Given the description of an element on the screen output the (x, y) to click on. 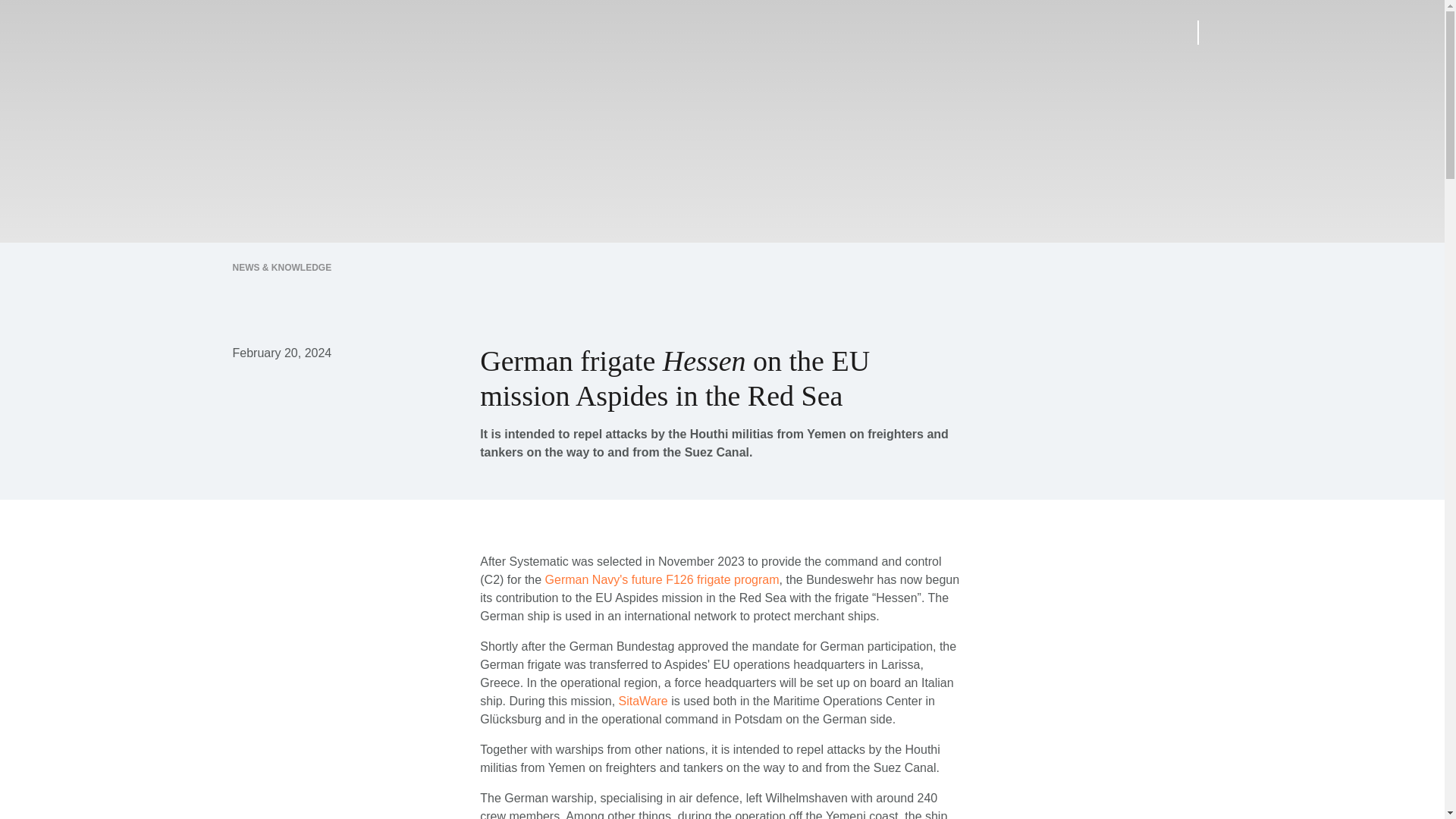
German Navy's future F126 frigate program (661, 579)
SitaWare suite (643, 700)
SitaWare (643, 700)
